Given the description of an element on the screen output the (x, y) to click on. 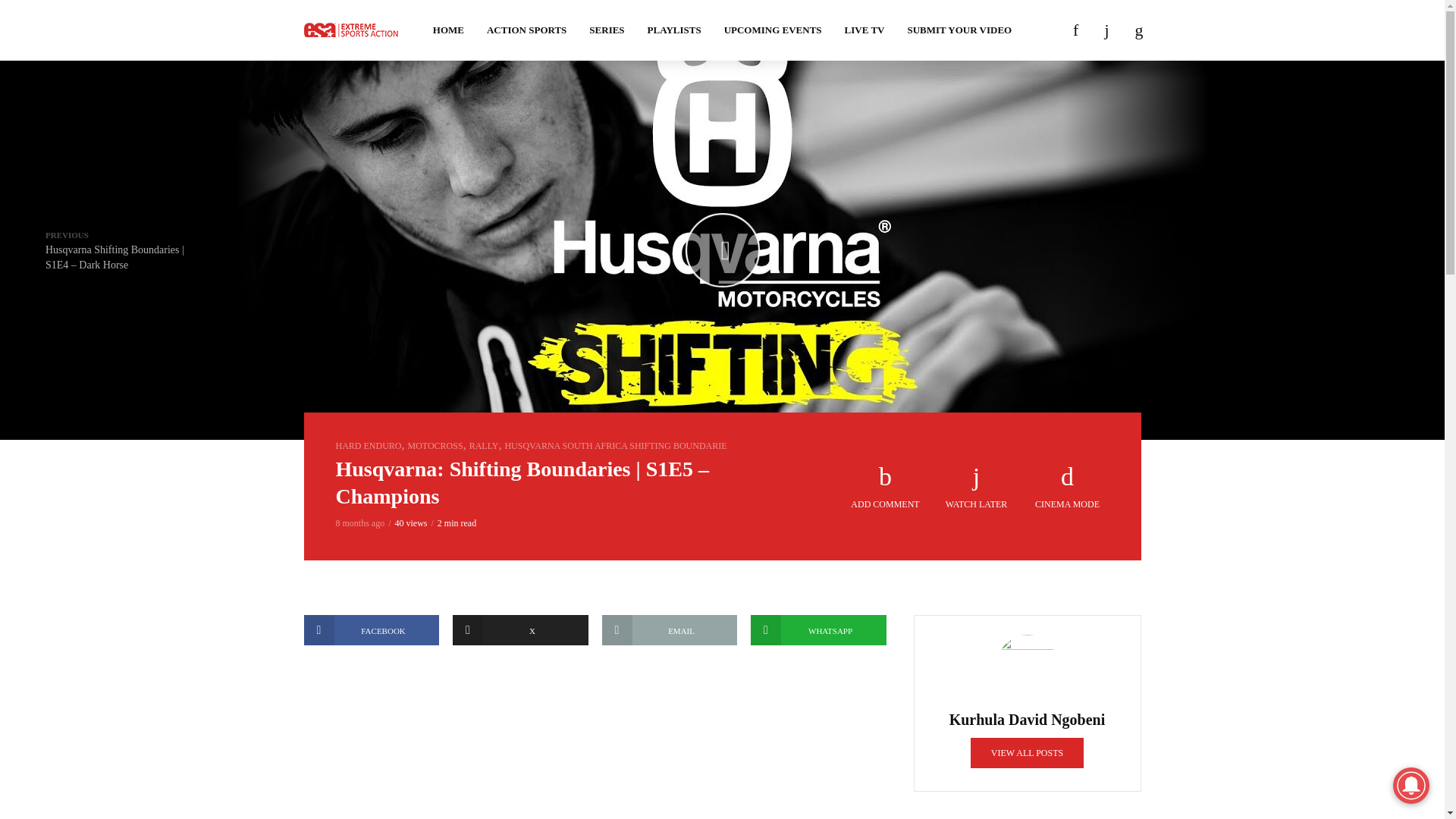
Advertisement (593, 747)
ACTION SPORTS (527, 30)
HOME (449, 30)
